Given the description of an element on the screen output the (x, y) to click on. 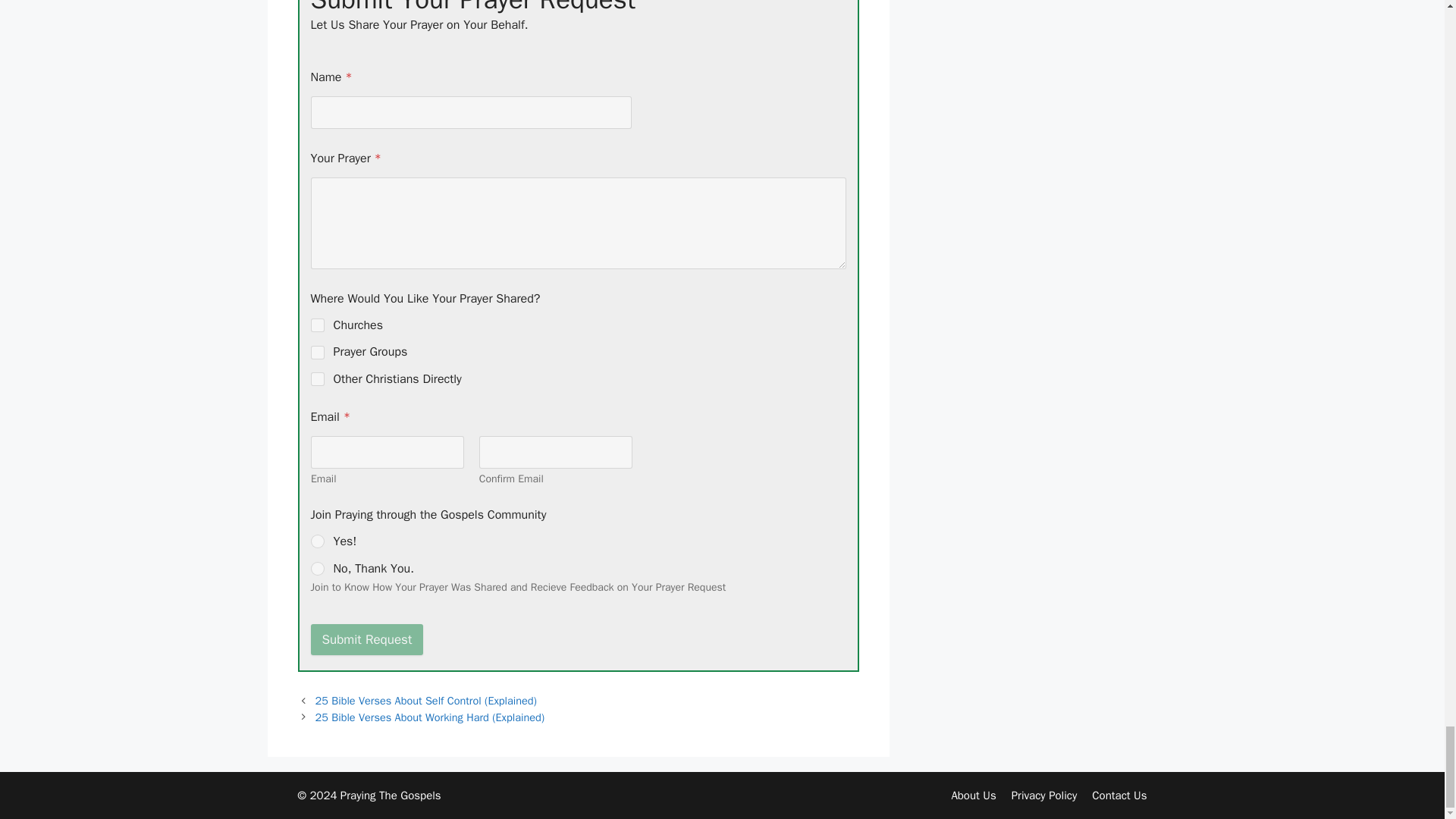
Other Christians Directly (318, 378)
No, Thank You. (318, 568)
Churches (318, 325)
Yes! (318, 541)
Prayer Groups (318, 352)
